Given the description of an element on the screen output the (x, y) to click on. 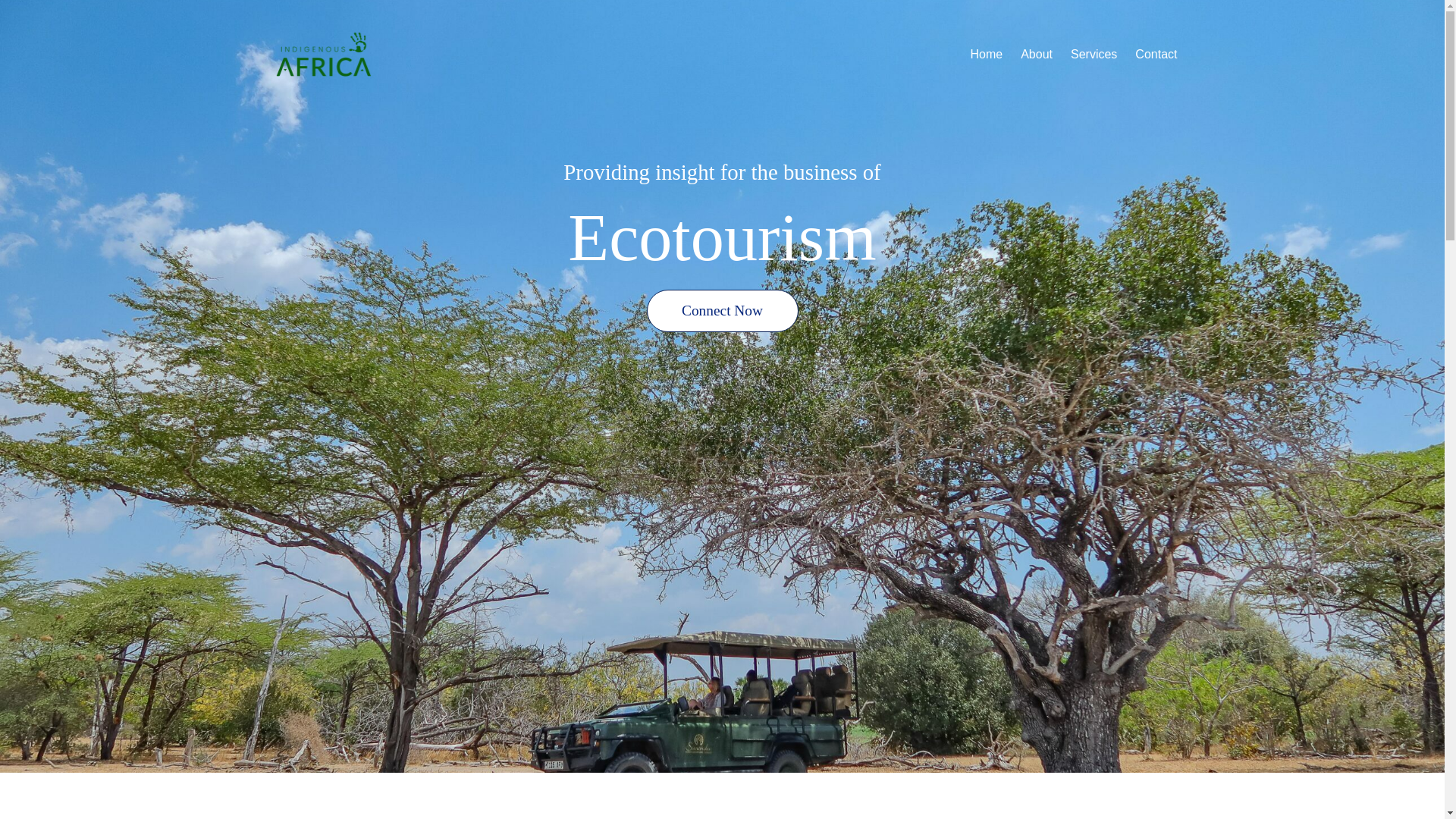
Services (1093, 54)
Contact (1155, 54)
Connect Now (721, 310)
About (1036, 54)
Home (987, 54)
